Given the description of an element on the screen output the (x, y) to click on. 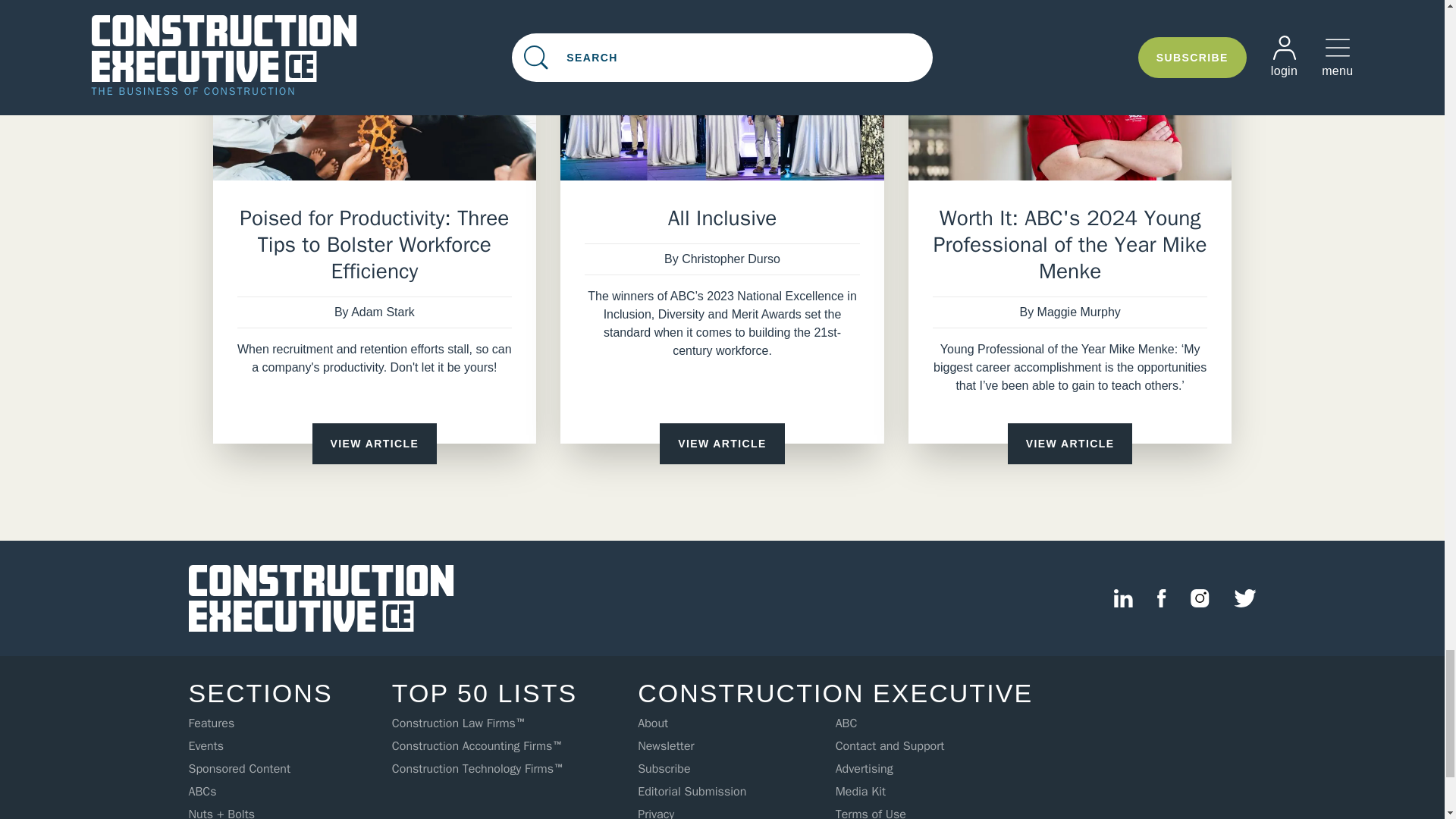
VIEW ARTICLE (1069, 443)
VIEW ARTICLE (375, 443)
VIEW ARTICLE (721, 443)
